Given the description of an element on the screen output the (x, y) to click on. 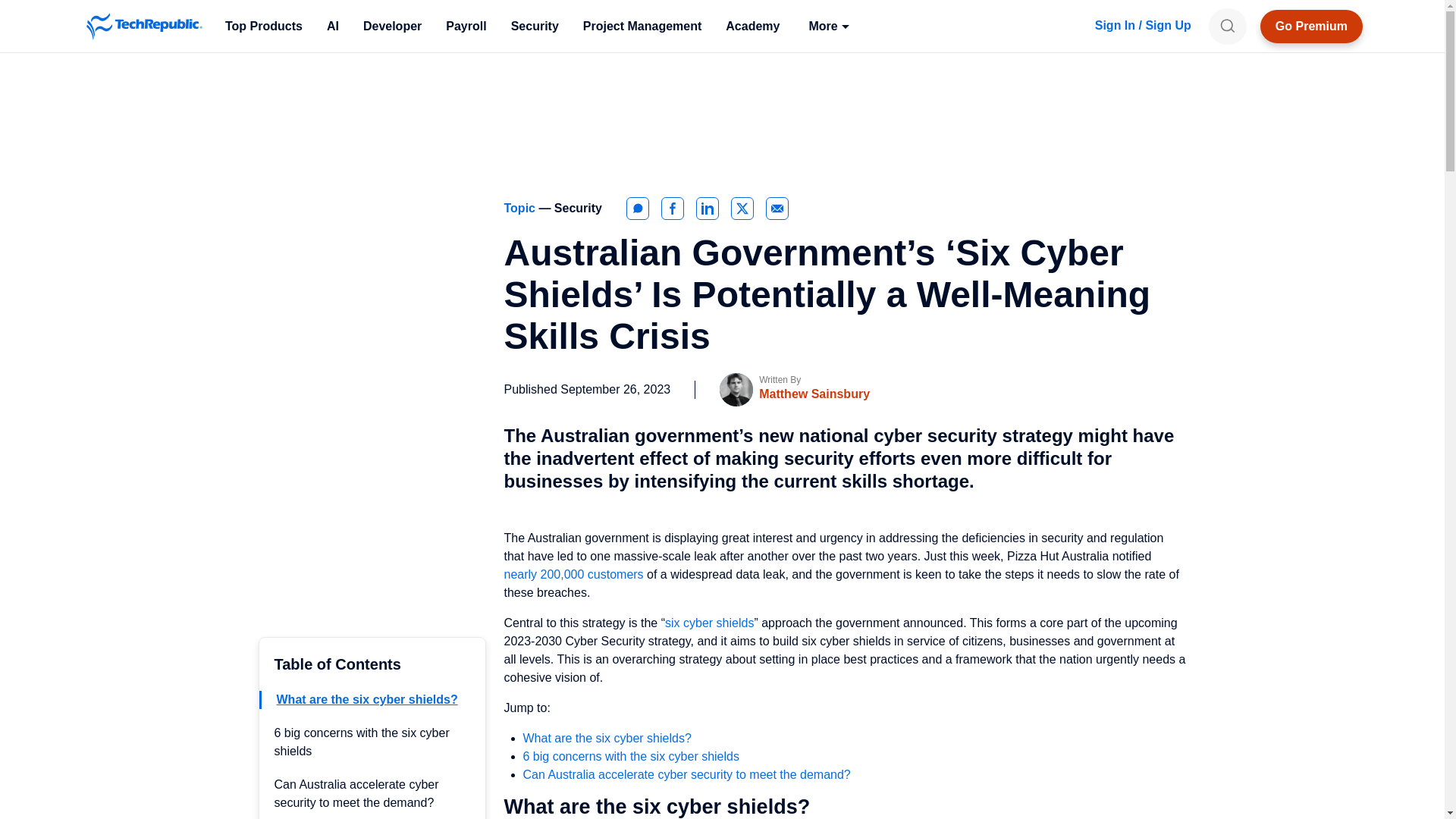
TechRepublic (143, 25)
Top Products (263, 26)
Topic (520, 207)
TechRepublic (143, 25)
3rd party ad content (721, 110)
What are the six cyber shields? (366, 698)
Academy (752, 26)
AI (332, 26)
6 big concerns with the six cyber shields (362, 741)
Security (534, 26)
Can Australia accelerate cyber security to meet the demand? (357, 793)
TechRepublic Premium (1311, 25)
Developer (392, 26)
Project Management (641, 26)
Payroll (465, 26)
